Given the description of an element on the screen output the (x, y) to click on. 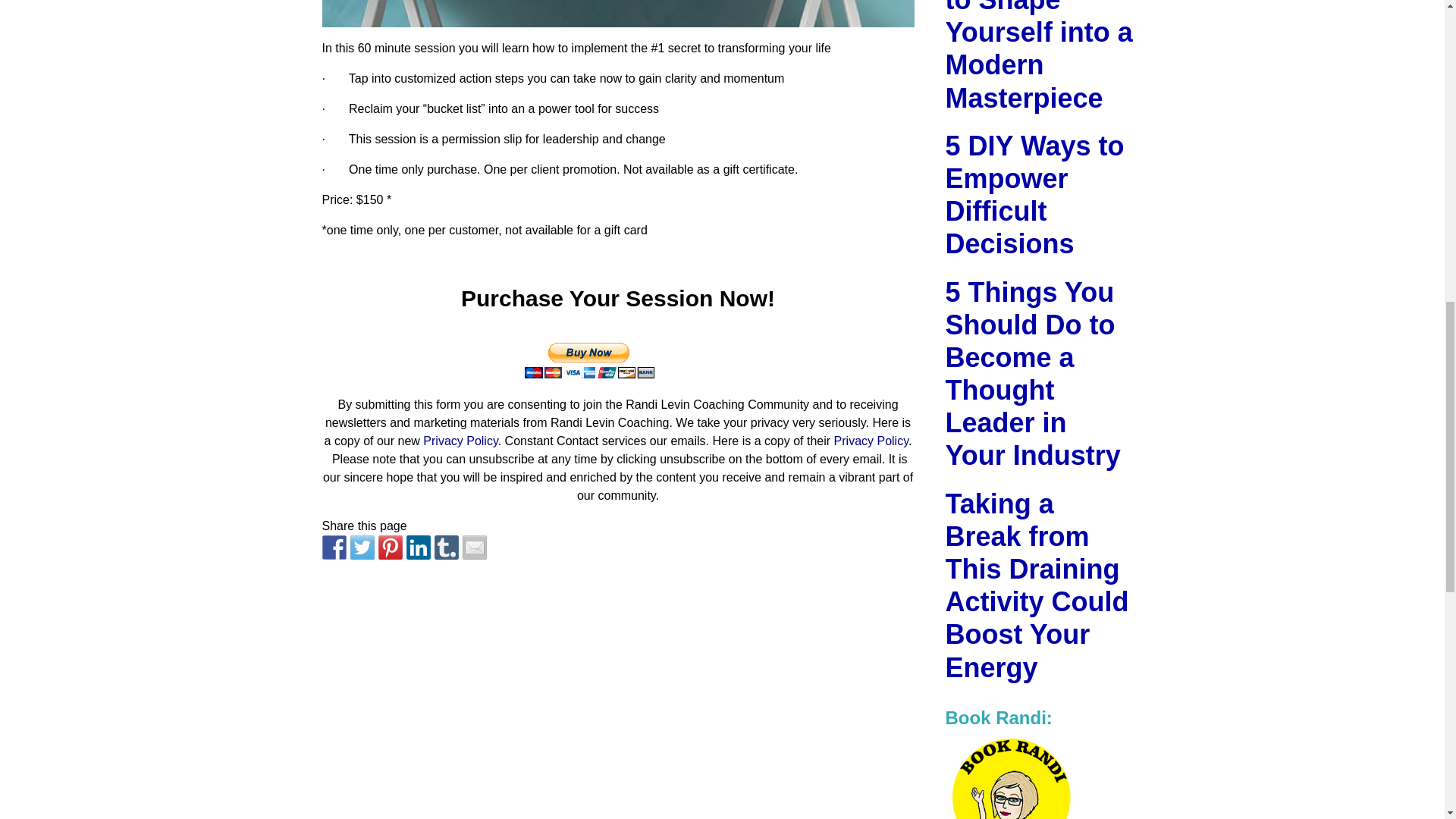
Privacy Policy (460, 440)
Share on Linkedin (418, 547)
Privacy Policy (871, 440)
Share by email (474, 547)
Share on Twitter (362, 547)
Share on Facebook (333, 547)
Share on tumblr (445, 547)
Pin it with Pinterest (389, 547)
